Given the description of an element on the screen output the (x, y) to click on. 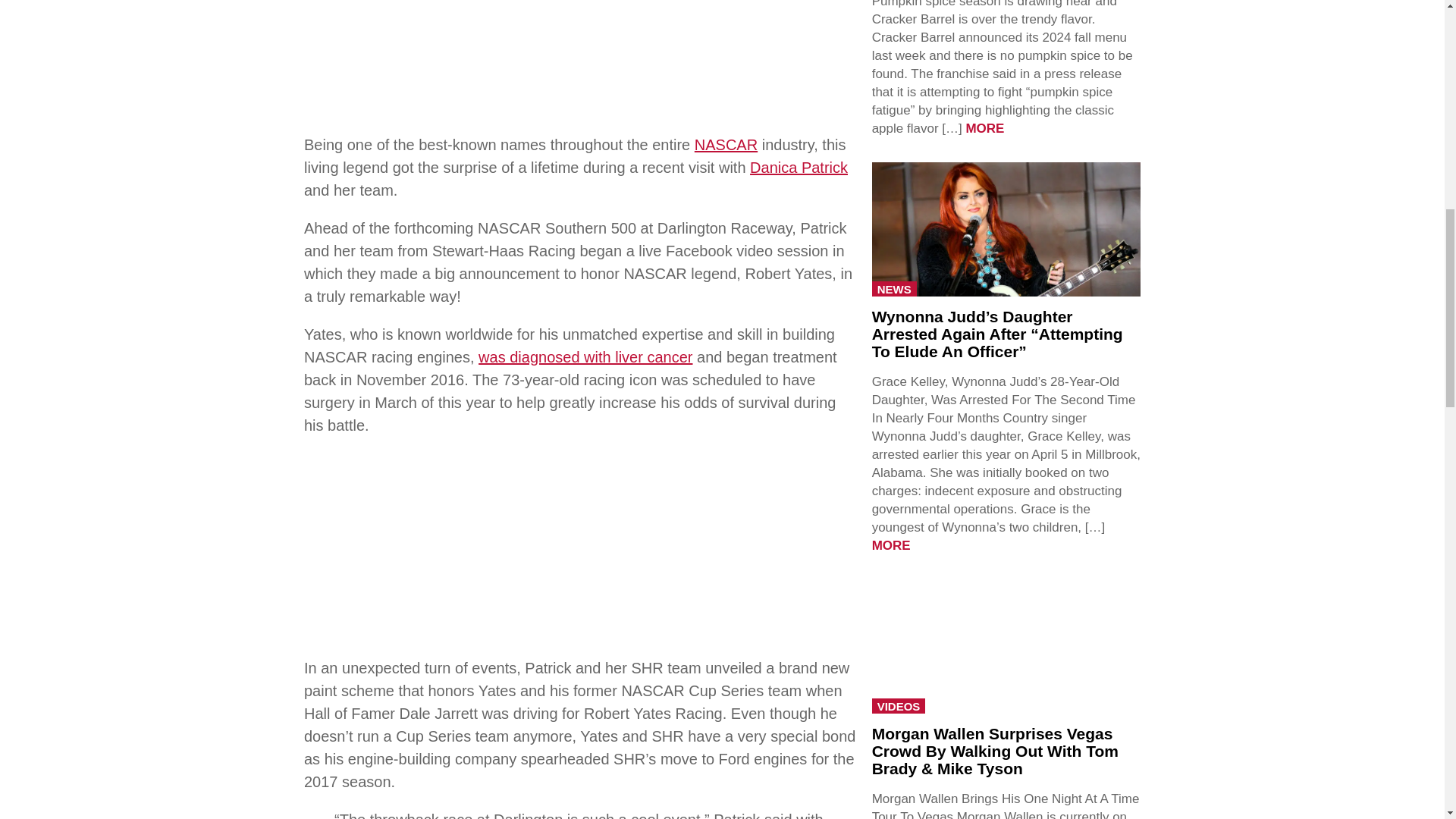
morgan-mike-tom (1006, 645)
wynonna-daughter-arrest (1006, 228)
MORE (984, 128)
was diagnosed with liver cancer (586, 356)
VIDEOS (899, 705)
Danica Patrick (798, 167)
MORE (891, 545)
NASCAR (725, 144)
NEWS (894, 288)
